Given the description of an element on the screen output the (x, y) to click on. 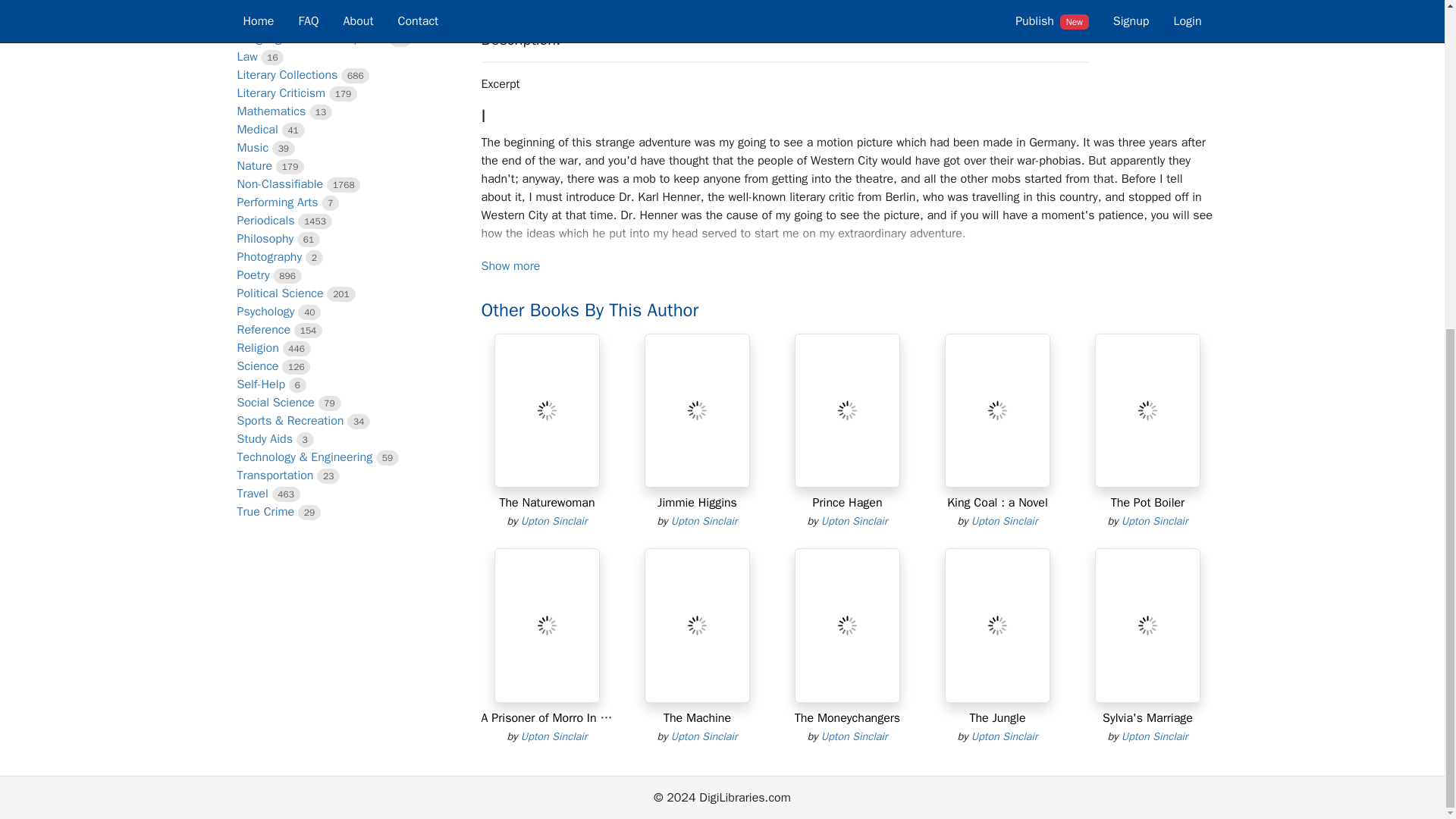
Literary Collections (286, 74)
Mathematics (270, 111)
Juvenile Fiction (276, 4)
Literary Criticism (279, 92)
Medical (256, 129)
Juvenile Nonfiction (285, 20)
Law (246, 56)
